Given the description of an element on the screen output the (x, y) to click on. 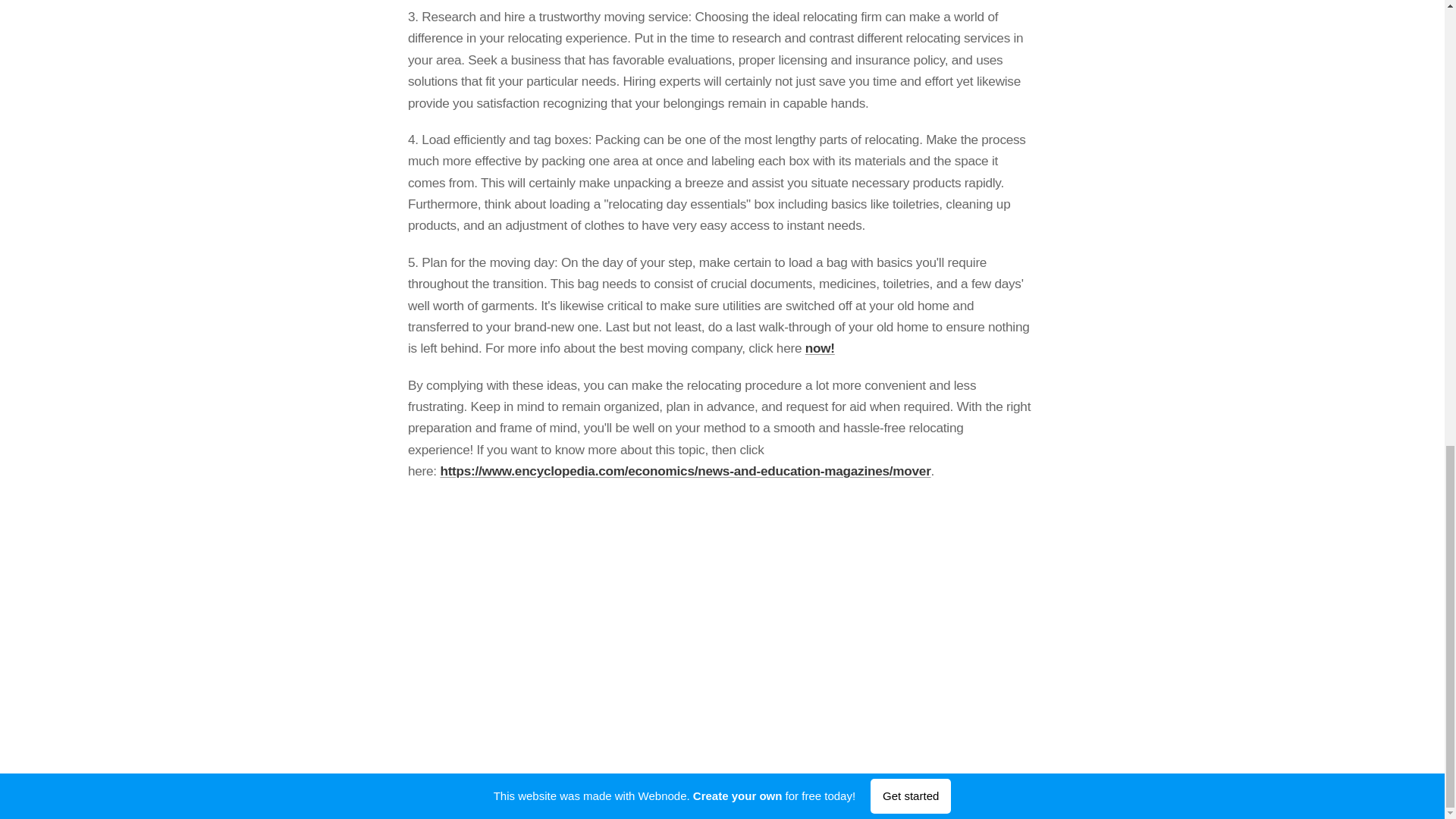
now! (819, 347)
